Given the description of an element on the screen output the (x, y) to click on. 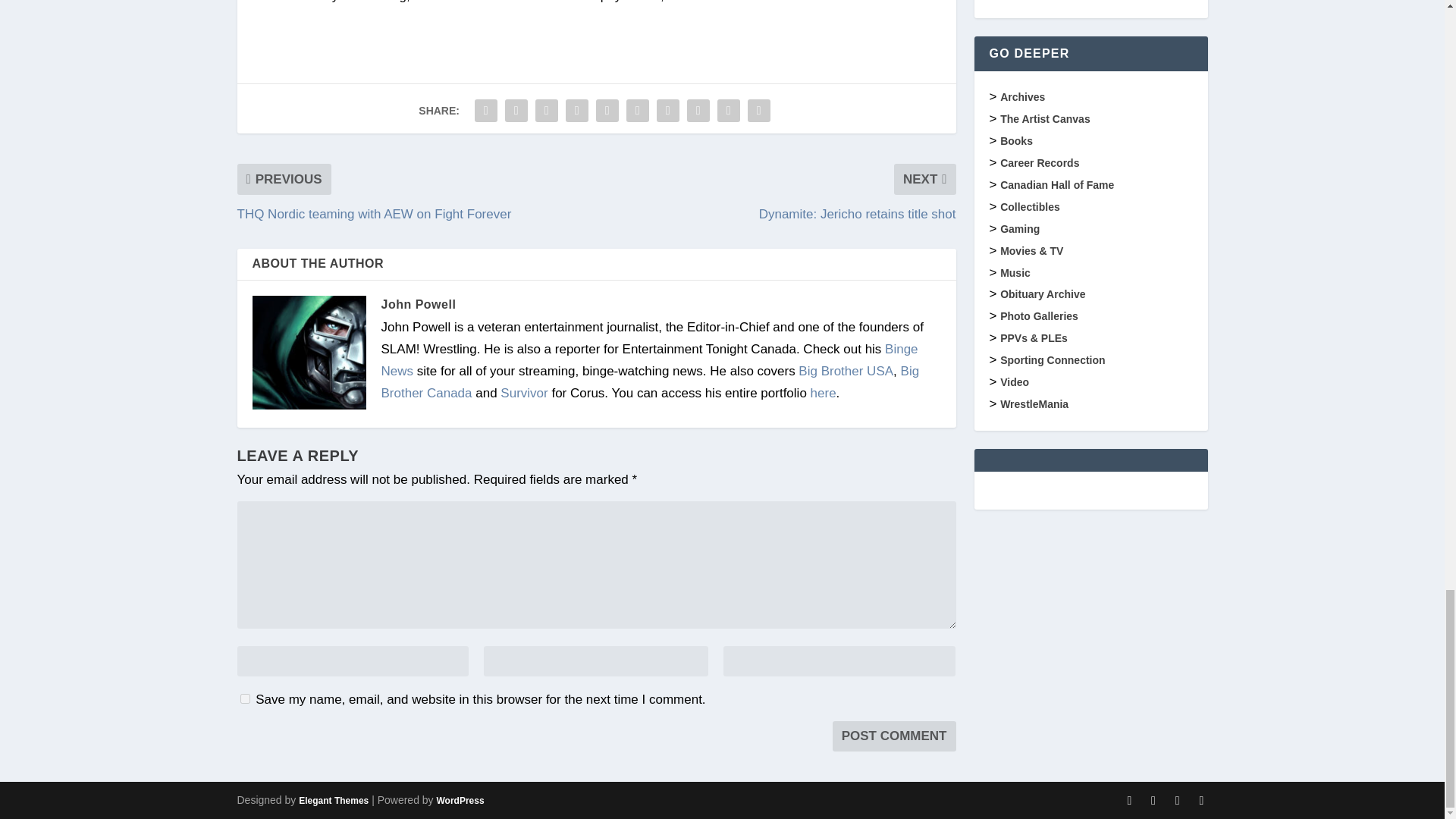
Share "AEW expands talent relations team" via Tumblr (577, 110)
Share "AEW expands talent relations team" via Facebook (485, 110)
View all posts by John Powell (417, 304)
Share "AEW expands talent relations team" via Print (759, 110)
Post Comment (894, 736)
Share "AEW expands talent relations team" via Buffer (667, 110)
Share "AEW expands talent relations team" via LinkedIn (637, 110)
yes (244, 698)
Share "AEW expands talent relations team" via Twitter (515, 110)
Share "AEW expands talent relations team" via Stumbleupon (697, 110)
